Given the description of an element on the screen output the (x, y) to click on. 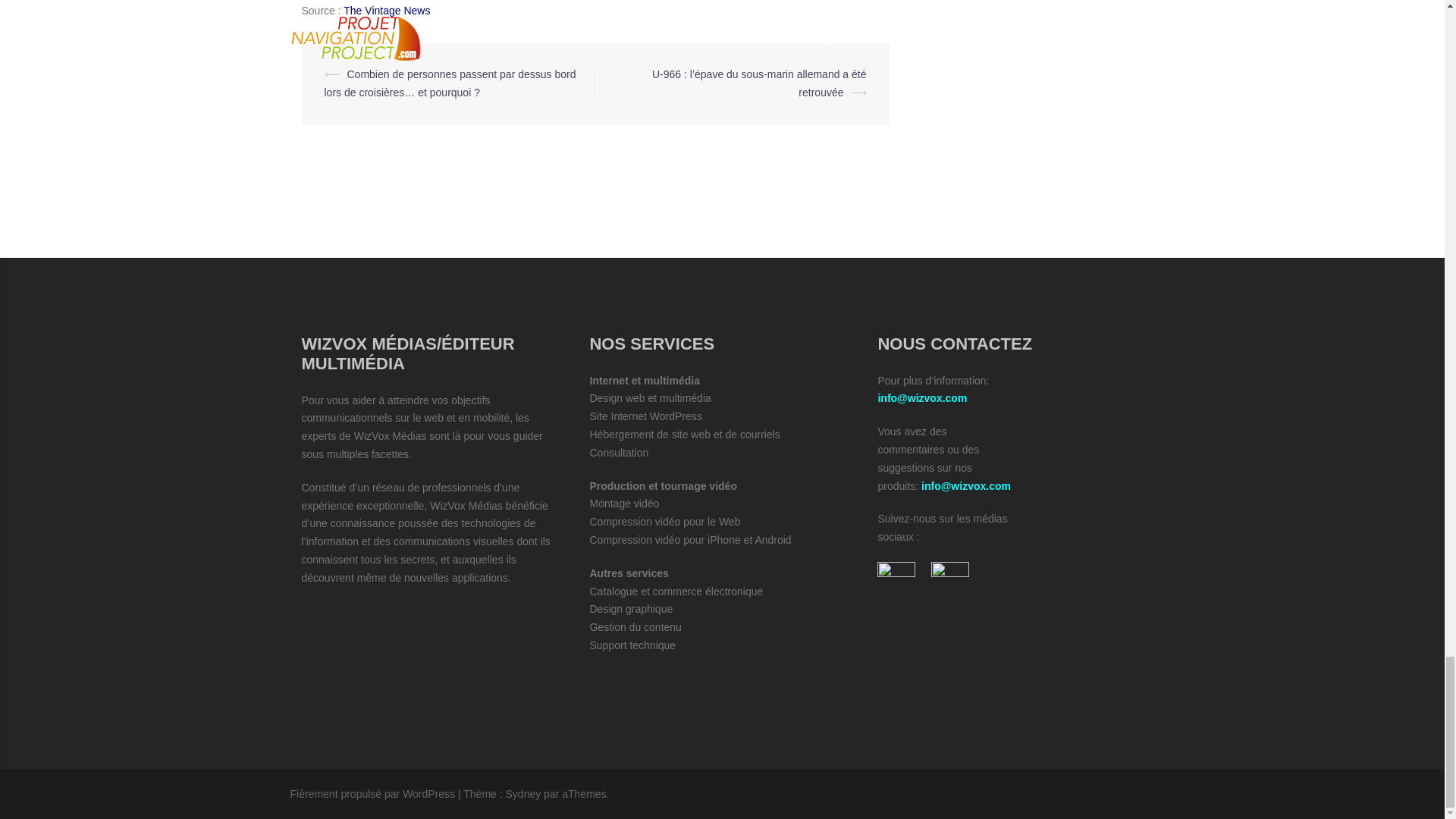
The Vintage News (386, 10)
